Given the description of an element on the screen output the (x, y) to click on. 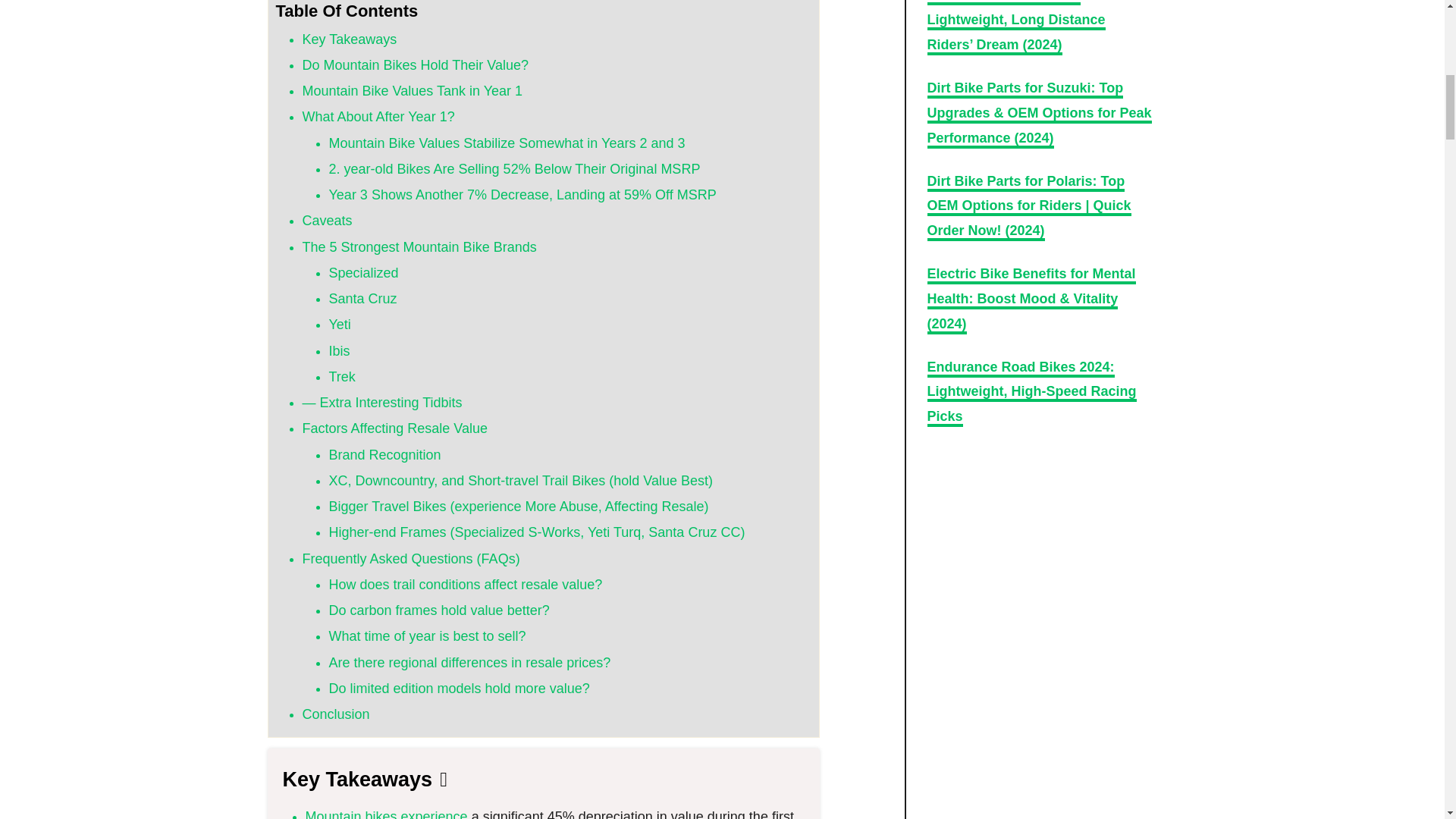
Key Takeaways (348, 38)
Do Mountain Bikes Hold Their Value? (414, 64)
Santa Cruz (363, 298)
Caveats (326, 220)
The 5 Strongest Mountain Bike Brands (418, 246)
Factors Affecting Resale Value (393, 427)
Specialized (363, 272)
How does trail conditions affect resale value? (465, 584)
Trek (342, 376)
What About After Year 1? (377, 116)
